Given the description of an element on the screen output the (x, y) to click on. 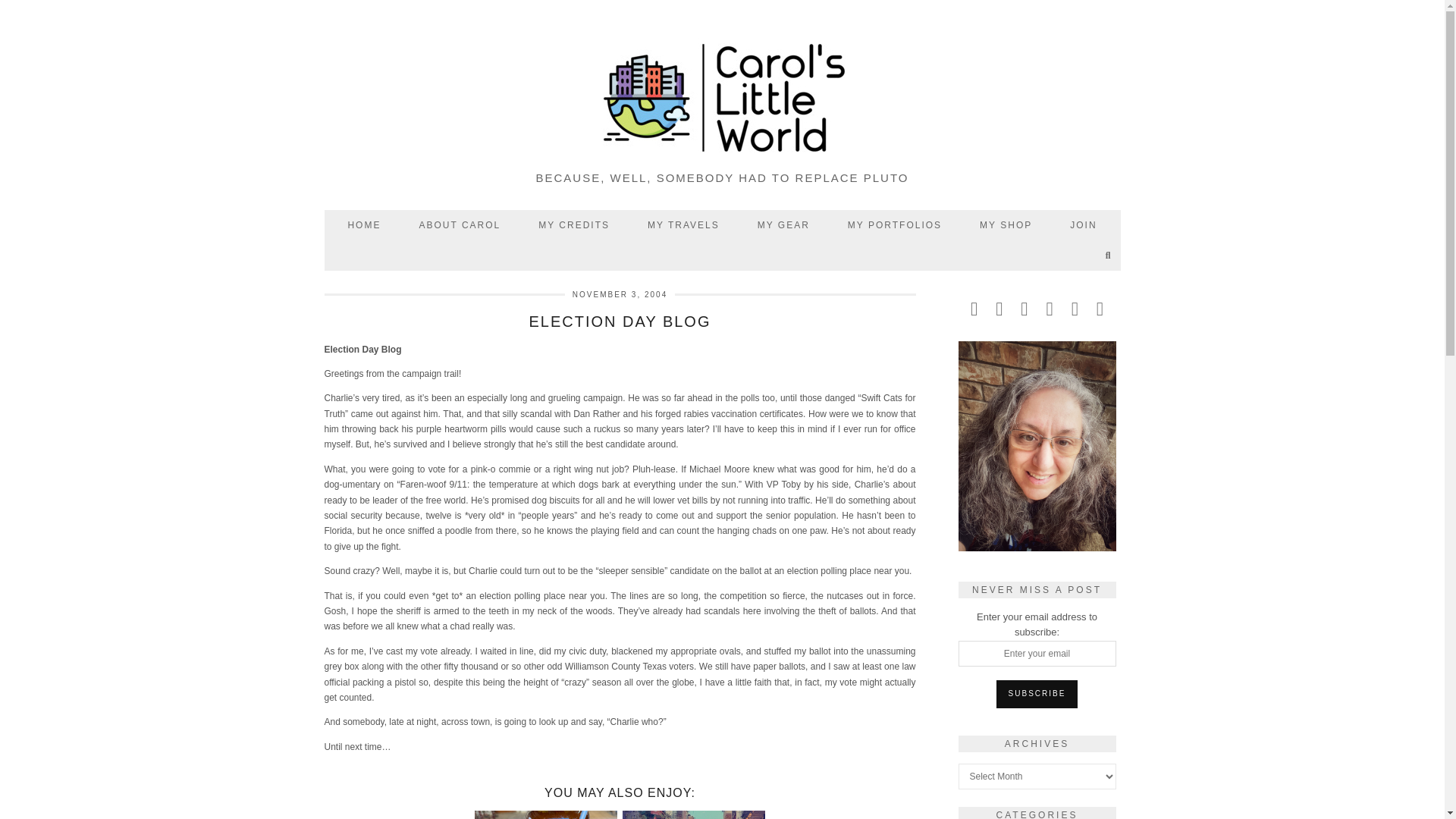
MY TRAVELS (683, 224)
twitter (973, 307)
MY SHOP (1005, 224)
MY PORTFOLIOS (894, 224)
JOIN (1083, 224)
MY GEAR (783, 224)
HOME (363, 224)
MY CREDITS (573, 224)
ABOUT CAROL (458, 224)
Carol's Little World (722, 99)
facebook (1023, 307)
Search (1108, 254)
Subscribe (1036, 693)
instagram (999, 307)
